Given the description of an element on the screen output the (x, y) to click on. 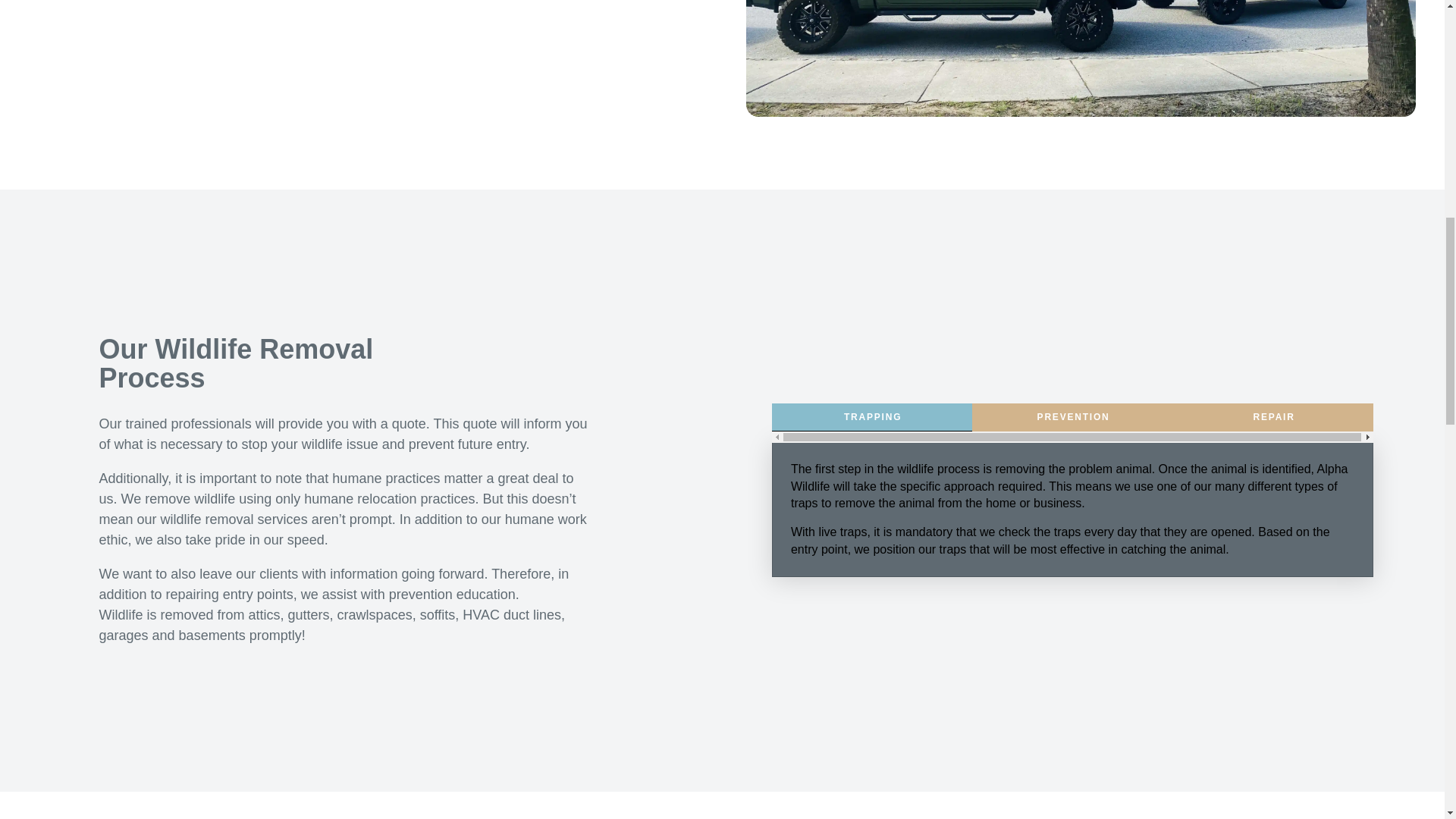
fullsizerender scaled (1080, 58)
PREVENTION (1072, 417)
REPAIR (1273, 417)
TRAPPING (871, 417)
